Given the description of an element on the screen output the (x, y) to click on. 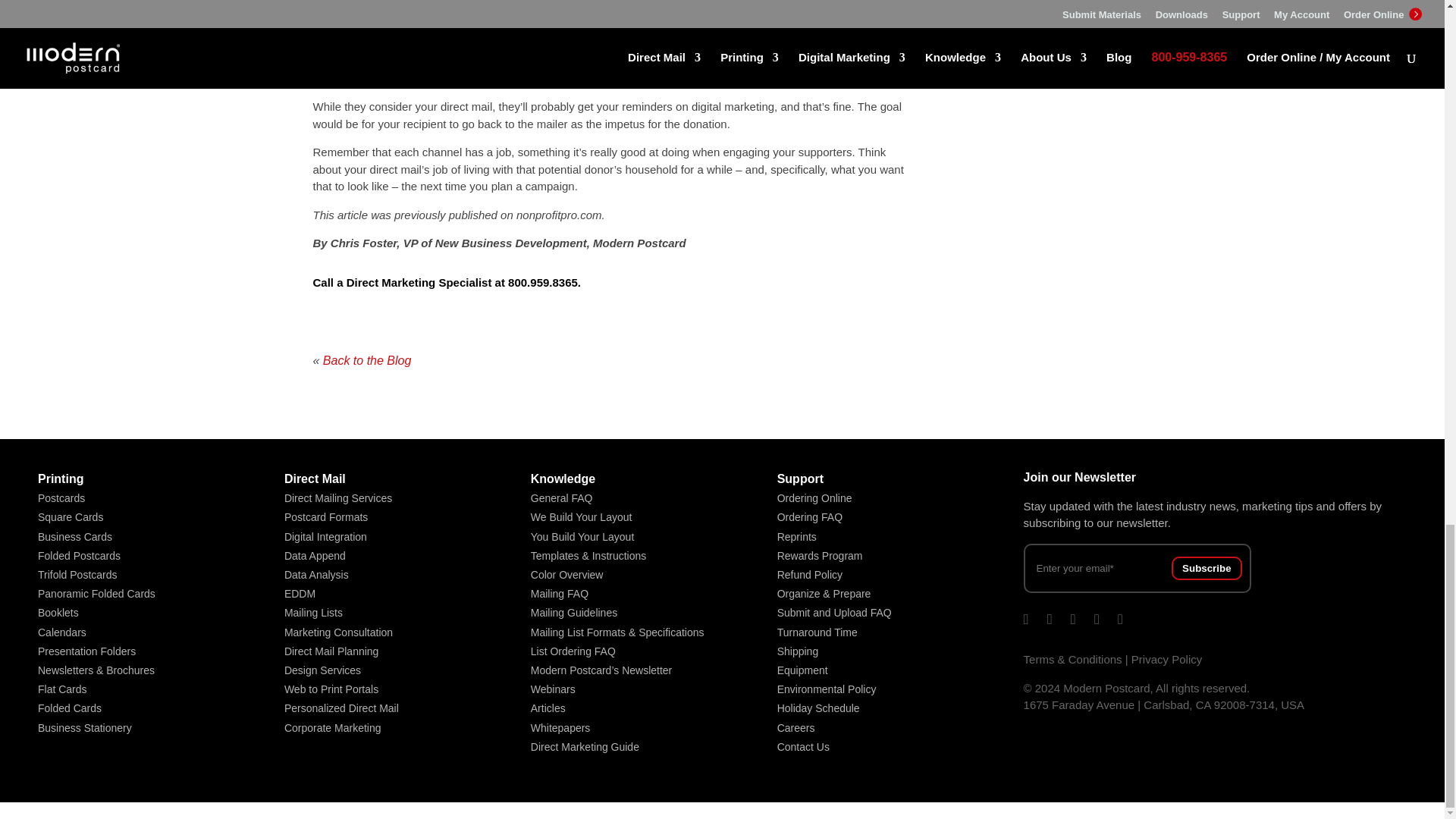
Presentation Folders (86, 651)
Postcard Formats (325, 517)
Trifold Postcards (77, 574)
Business Cards (74, 536)
Business Stationery (84, 727)
Folded Postcards (78, 555)
Direct Mailing Services (337, 498)
Calendars (61, 632)
Flat Cards (62, 689)
Postcards (60, 498)
Panoramic Folded Cards (96, 593)
Booklets (57, 612)
Square Cards (70, 517)
Folded Cards (69, 707)
